Given the description of an element on the screen output the (x, y) to click on. 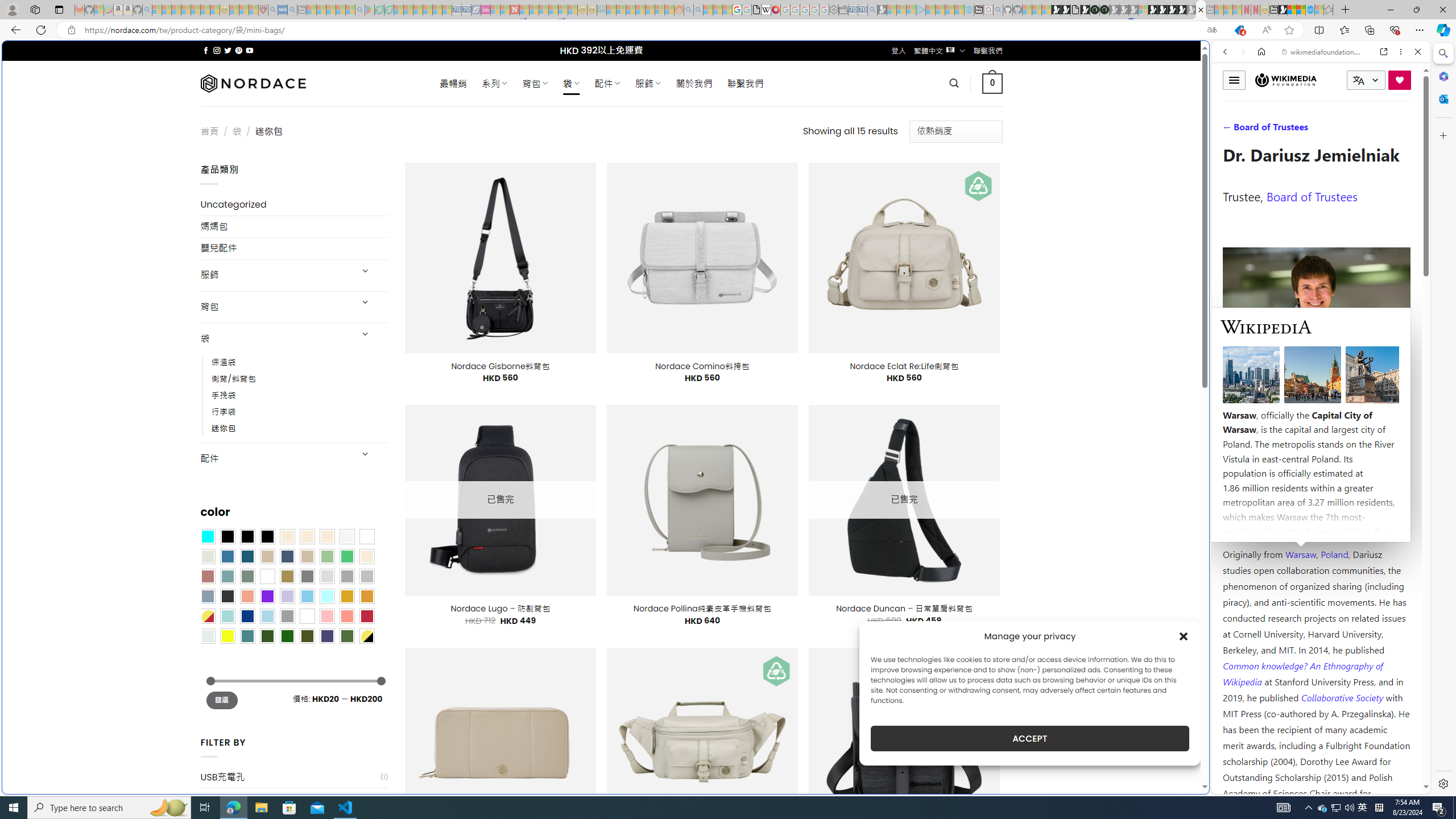
Close Customize pane (1442, 135)
